Given the description of an element on the screen output the (x, y) to click on. 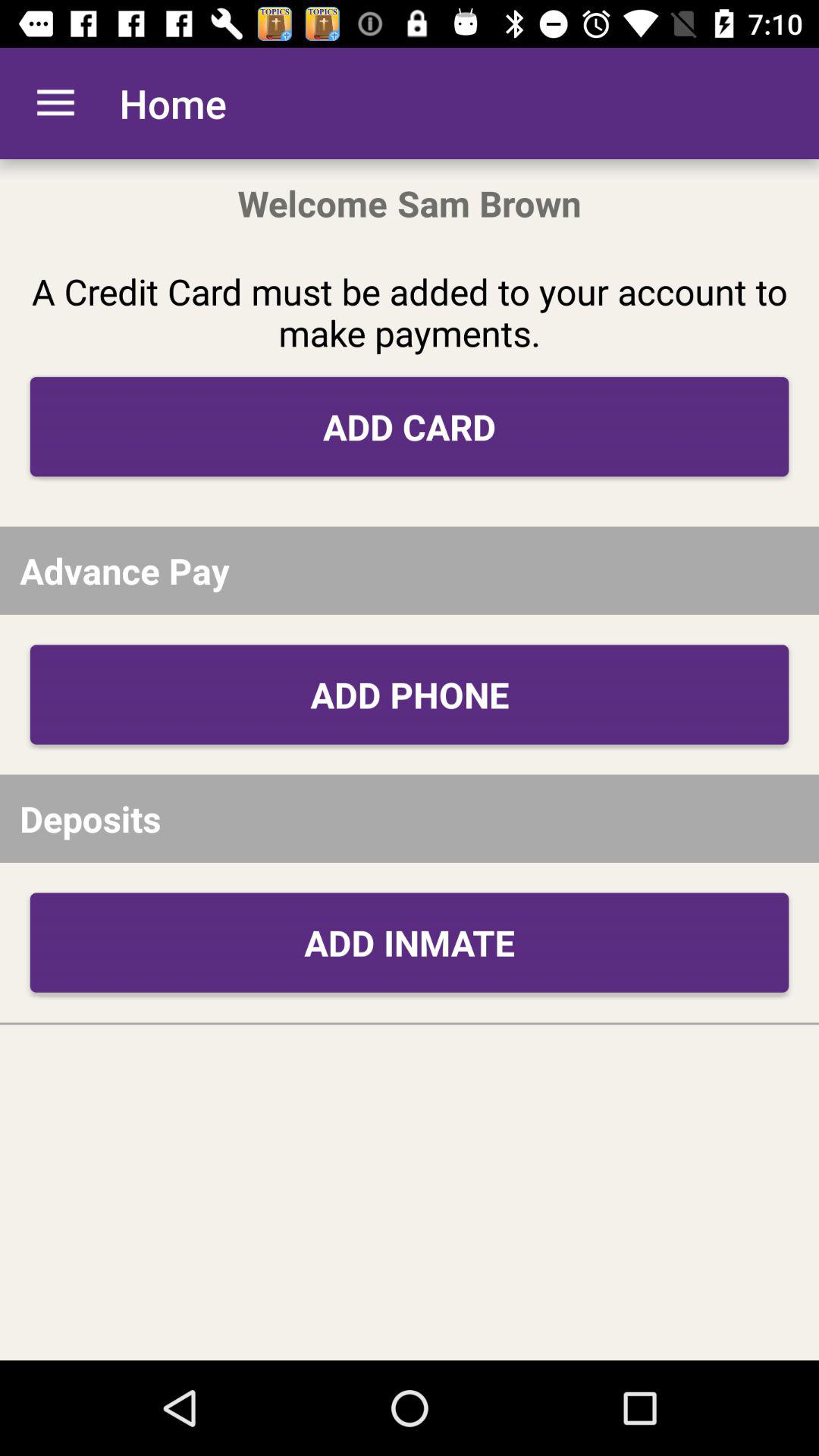
click the add phone (409, 694)
